Given the description of an element on the screen output the (x, y) to click on. 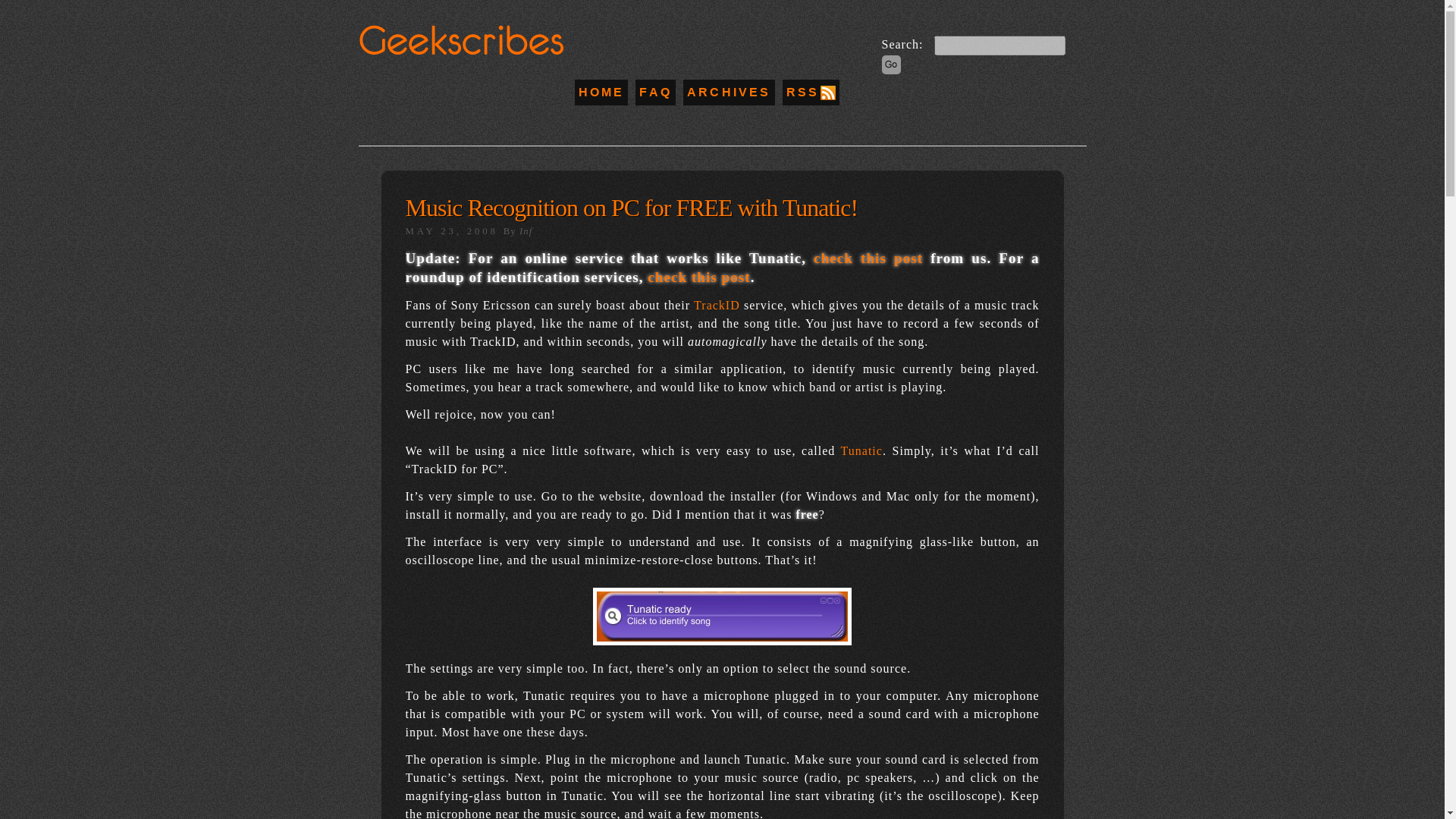
check this post (868, 258)
RSS (810, 92)
check this post (698, 277)
Music Recognition on PC for FREE with Tunatic! (630, 207)
HOME (601, 91)
Midomi Post on Geekscribes (868, 258)
Tunatic (721, 640)
FAQ (655, 91)
Tunatic (861, 450)
